Given the description of an element on the screen output the (x, y) to click on. 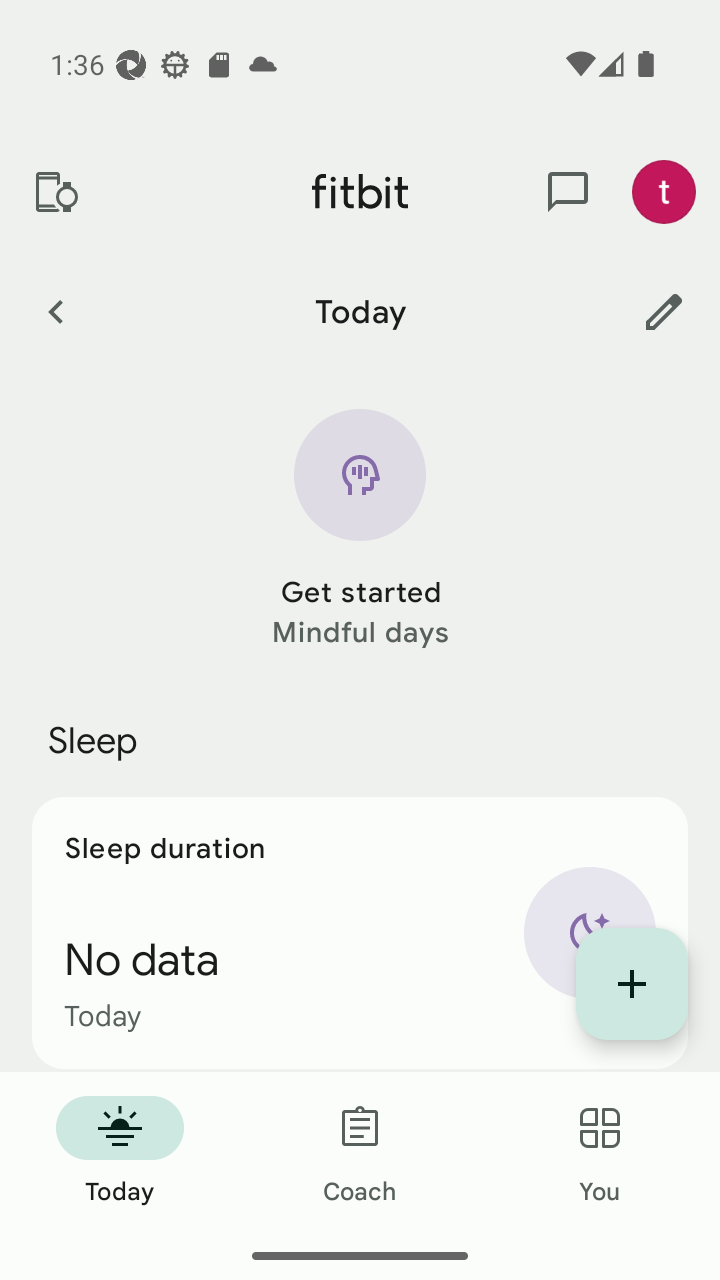
Devices and apps (55, 191)
messages and notifications (567, 191)
Previous Day (55, 311)
Customize (664, 311)
Mindfulness icon Get started Mindful days (360, 530)
Sleep duration No data Today Sleep static arc (359, 932)
Display list of quick log entries (632, 983)
Coach (359, 1151)
You (600, 1151)
